Given the description of an element on the screen output the (x, y) to click on. 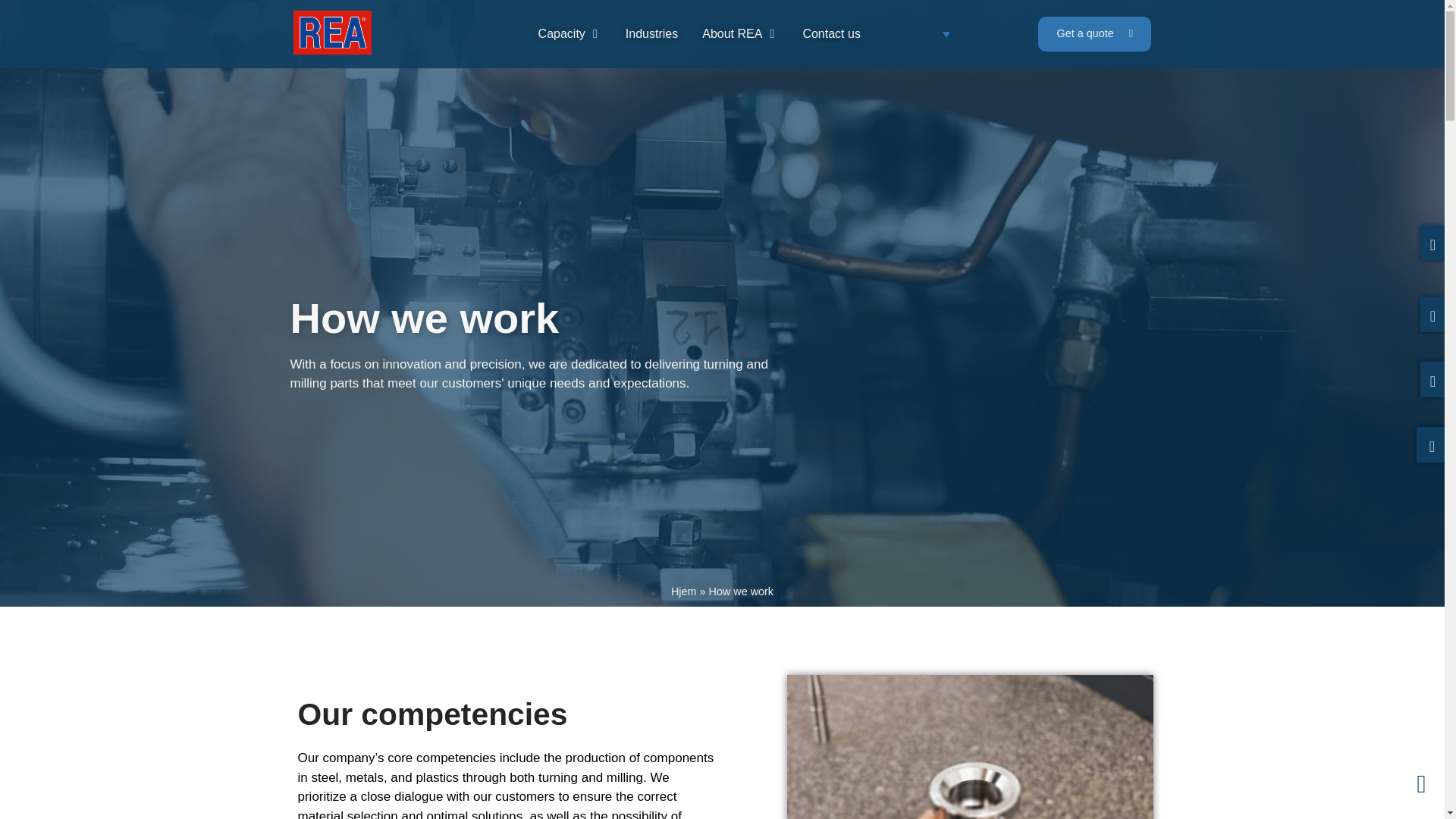
About REA (731, 34)
Hjem (684, 591)
Industries (652, 34)
Capacity (561, 34)
Get a quote (1094, 33)
Contact us (831, 34)
